Given the description of an element on the screen output the (x, y) to click on. 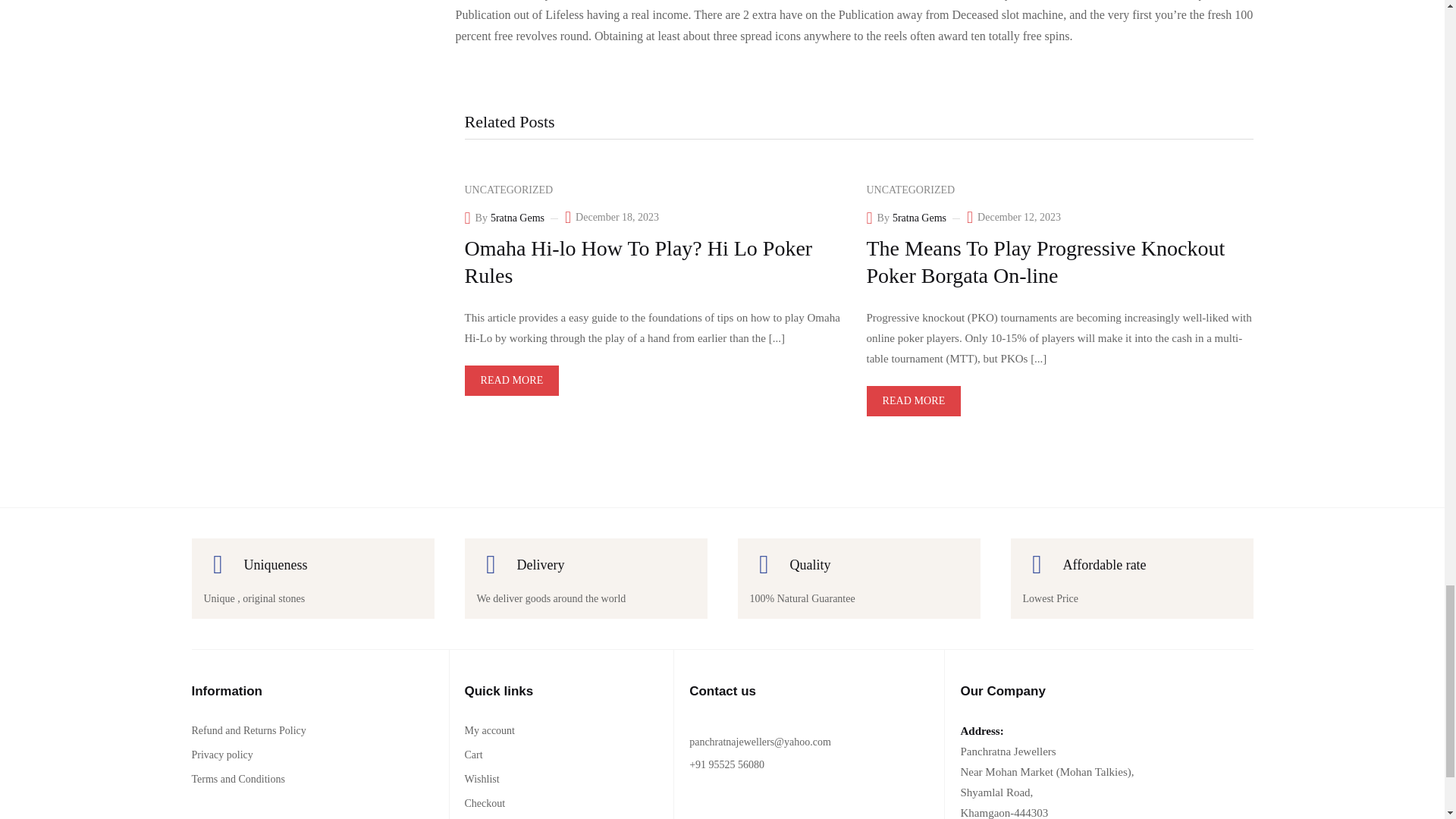
View all posts in Uncategorized (910, 190)
View all posts in Uncategorized (508, 190)
Posts by 5ratna gems (919, 218)
Read more (511, 380)
Posts by 5ratna gems (517, 218)
